Given the description of an element on the screen output the (x, y) to click on. 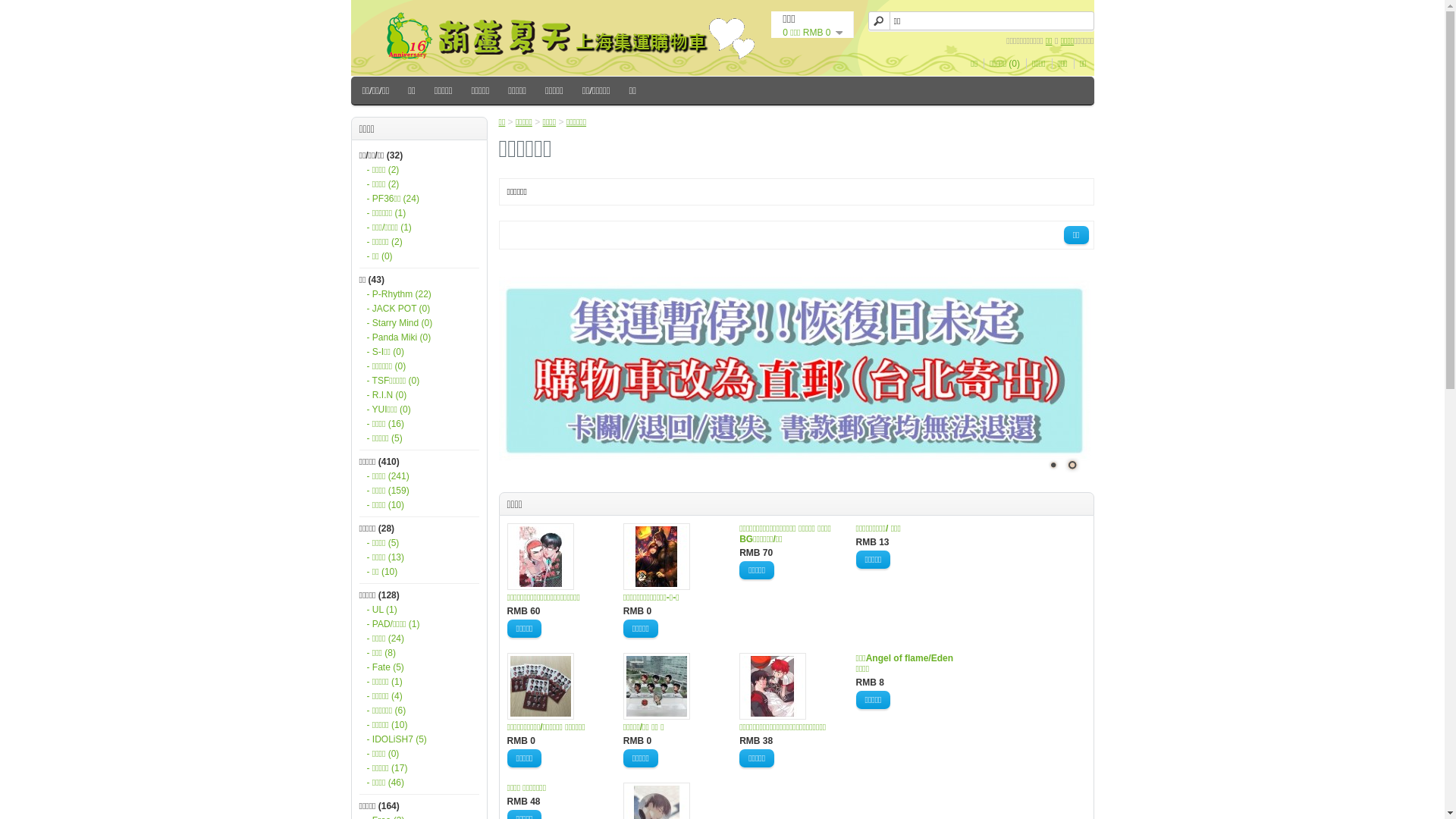
1 Element type: text (1052, 464)
- Fate (5) Element type: text (418, 667)
- Starry Mind (0) Element type: text (418, 322)
- UL (1) Element type: text (418, 609)
2 Element type: text (1071, 464)
- Panda Miki (0) Element type: text (418, 337)
- P-Rhythm (22) Element type: text (418, 293)
- IDOLiSH7 (5) Element type: text (418, 739)
- JACK POT (0) Element type: text (418, 308)
- R.I.N (0) Element type: text (418, 394)
